Given the description of an element on the screen output the (x, y) to click on. 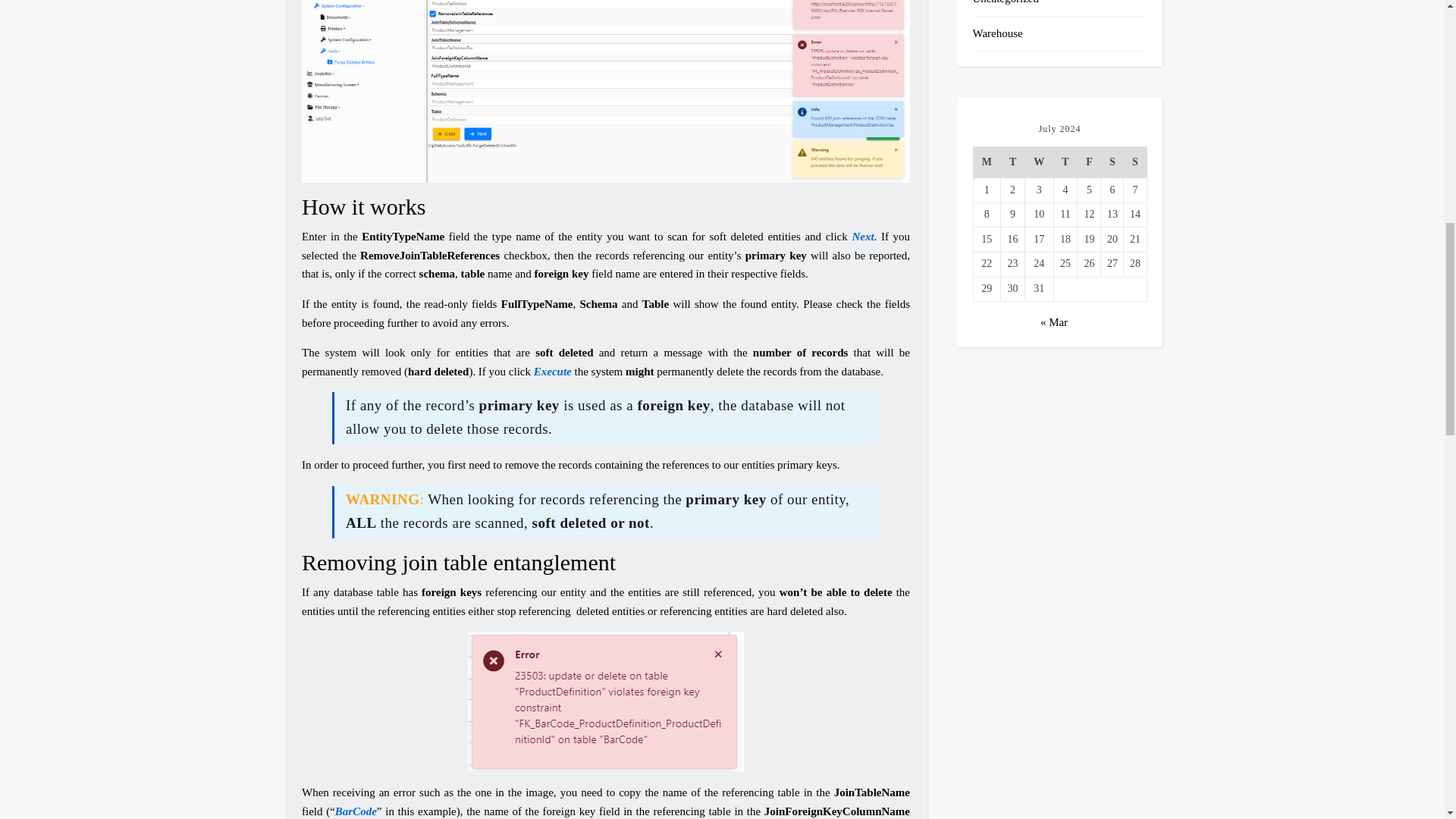
Wednesday (1039, 162)
